Given the description of an element on the screen output the (x, y) to click on. 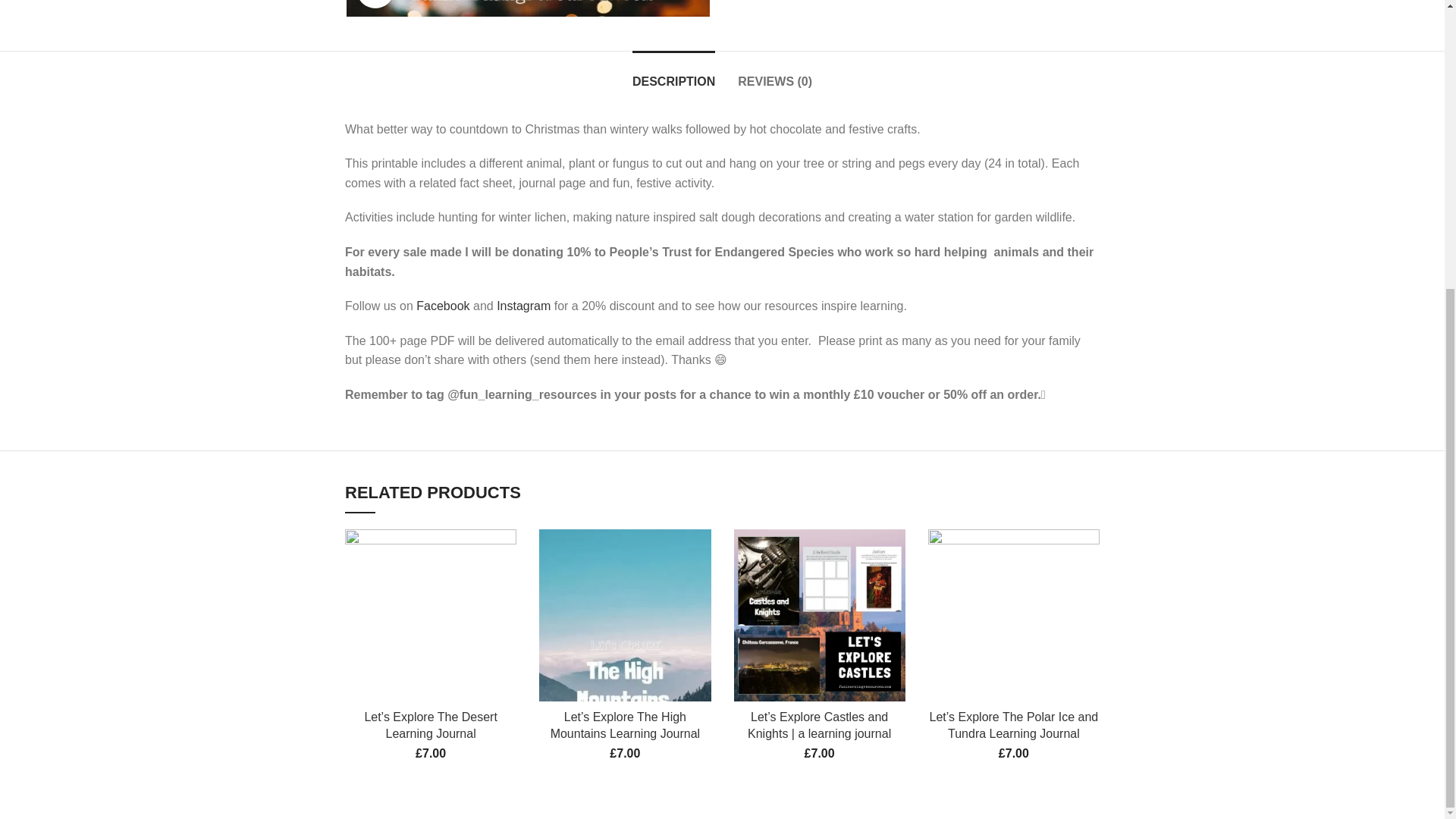
Instagram (523, 305)
DESCRIPTION (672, 72)
Facebook (442, 305)
